Given the description of an element on the screen output the (x, y) to click on. 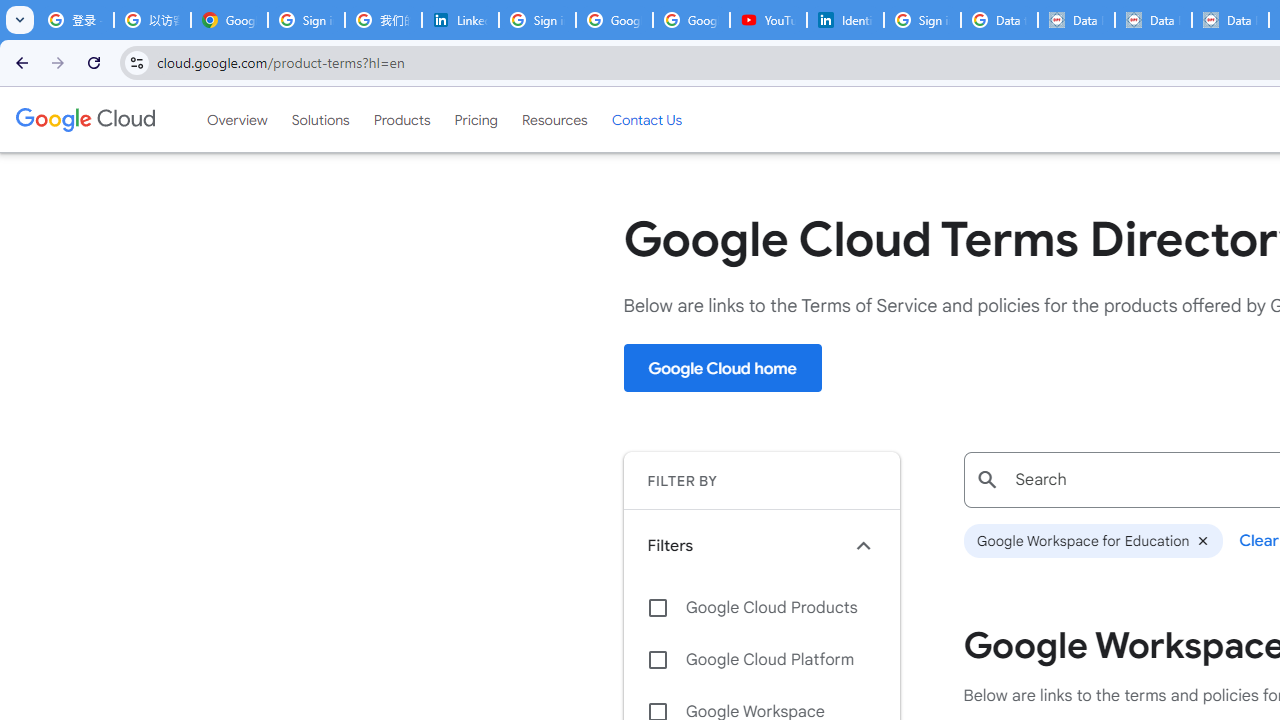
Google Cloud Products (761, 607)
Google Cloud (84, 119)
Google Cloud Platform (761, 660)
Data Privacy Framework (1076, 20)
Sign in - Google Accounts (922, 20)
Sign in - Google Accounts (537, 20)
Google Workspace for Education (1092, 541)
Google Cloud home (722, 367)
